Given the description of an element on the screen output the (x, y) to click on. 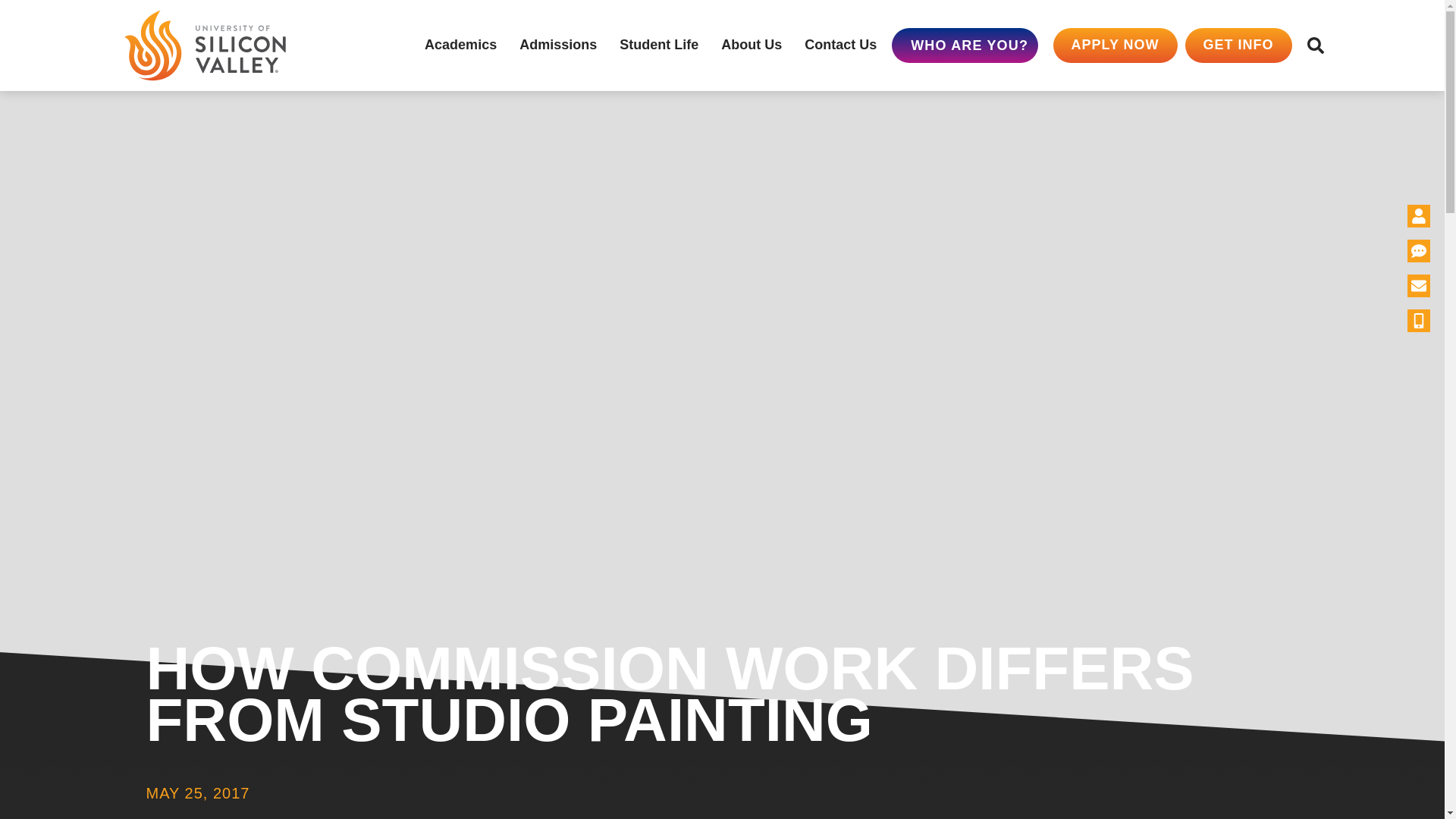
Admissions (557, 45)
Academics (460, 45)
